Given the description of an element on the screen output the (x, y) to click on. 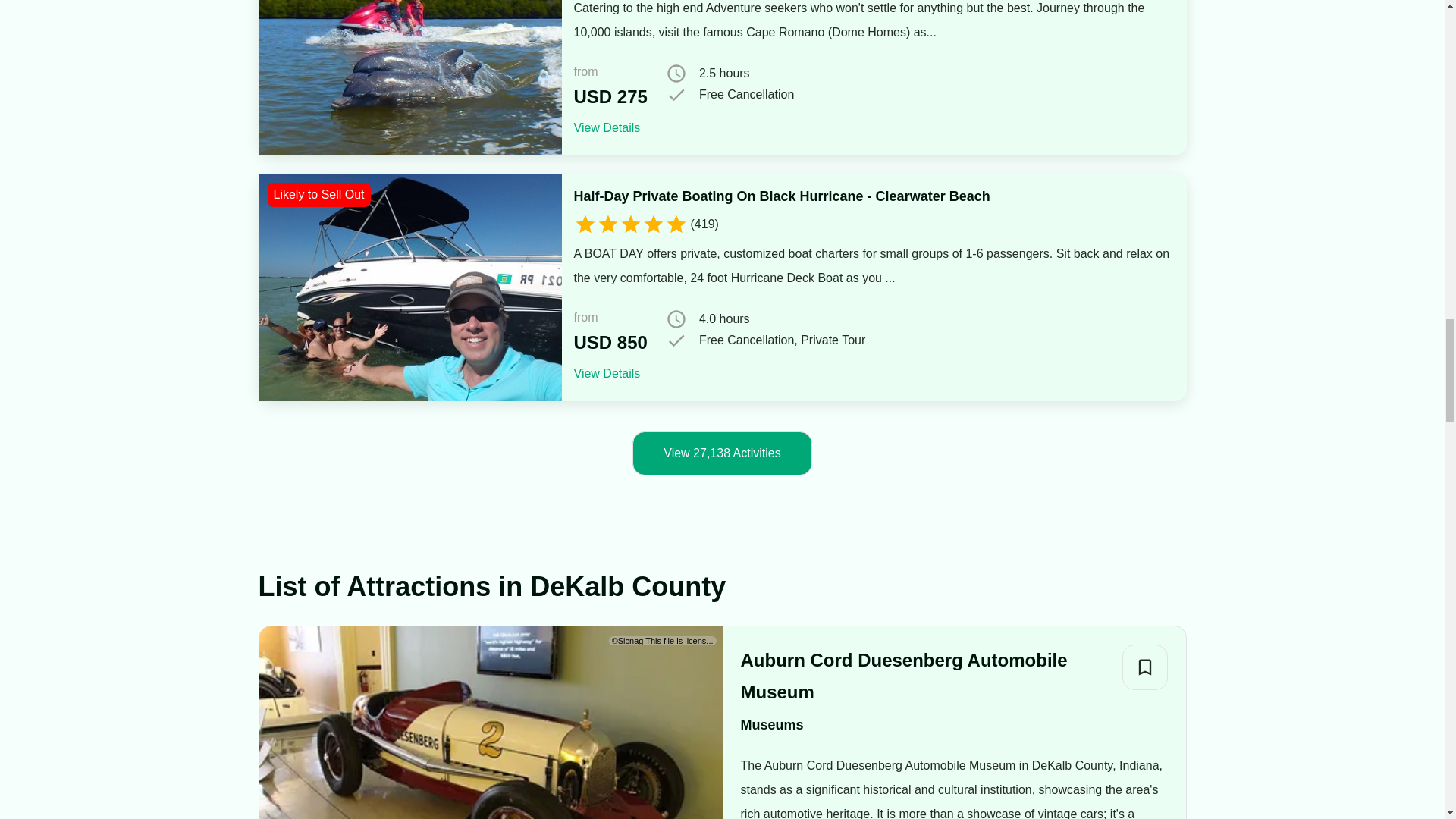
View Details (606, 373)
View 27,138 Activities (720, 453)
Likely to Sell Out (408, 287)
View Details (606, 127)
Auburn Cord Duesenberg Automobile Museum (924, 676)
Add to Bucket List (1144, 667)
